Given the description of an element on the screen output the (x, y) to click on. 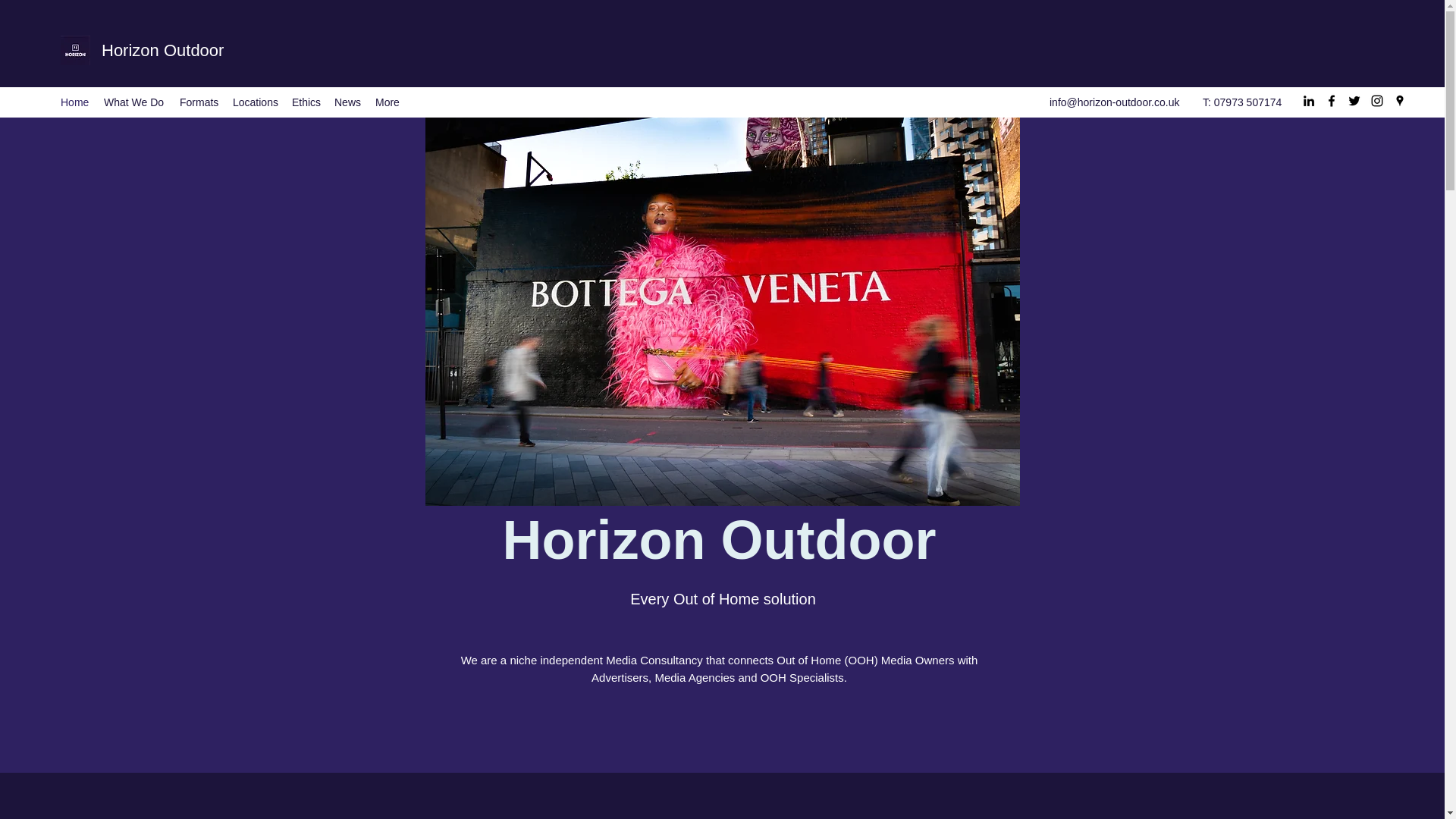
Locations (254, 101)
What We Do (133, 101)
News (347, 101)
Home (74, 101)
Formats (198, 101)
Ethics (304, 101)
Horizon Outdoor (162, 49)
